Given the description of an element on the screen output the (x, y) to click on. 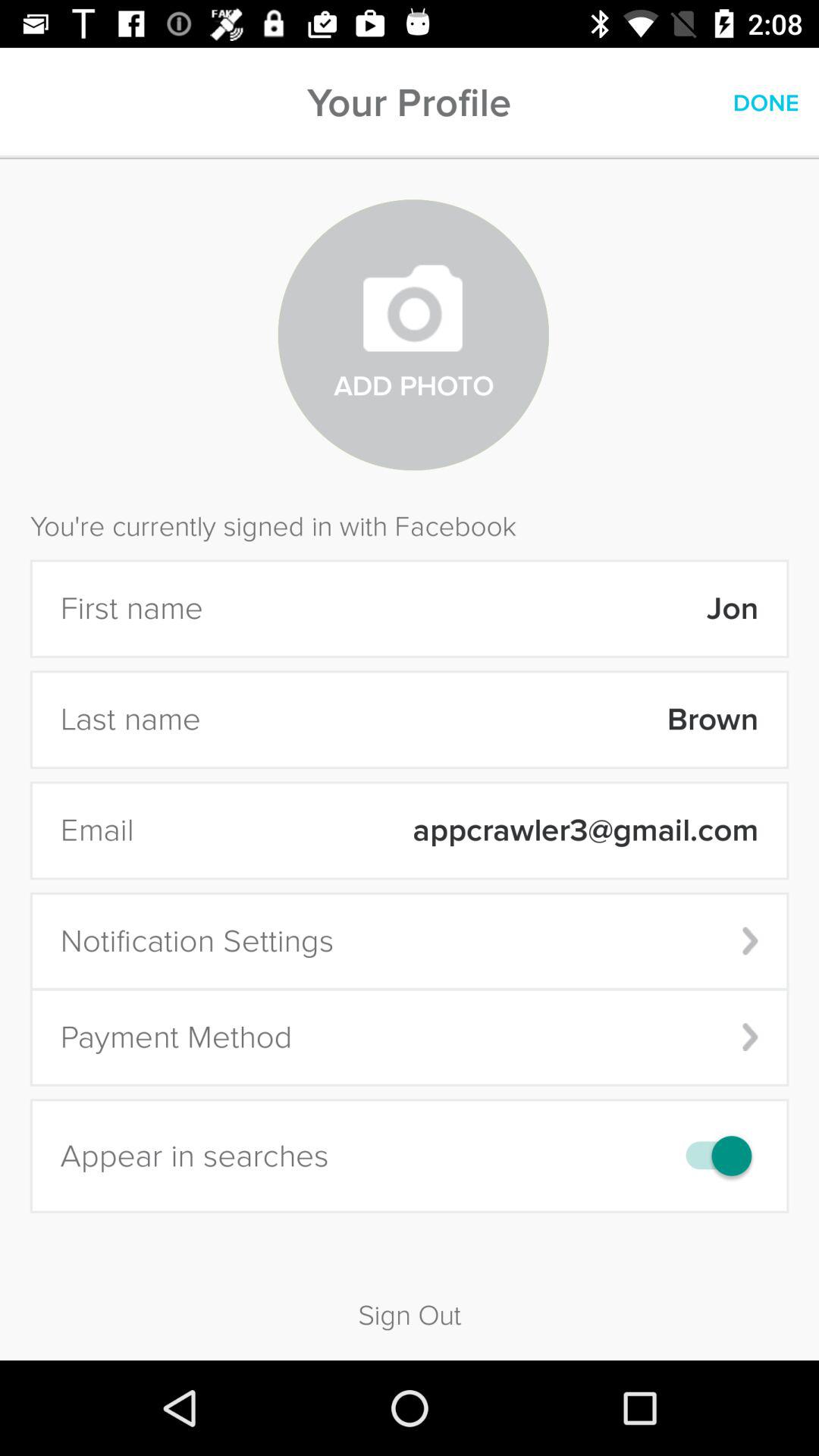
choose the icon below the you re currently icon (490, 608)
